Given the description of an element on the screen output the (x, y) to click on. 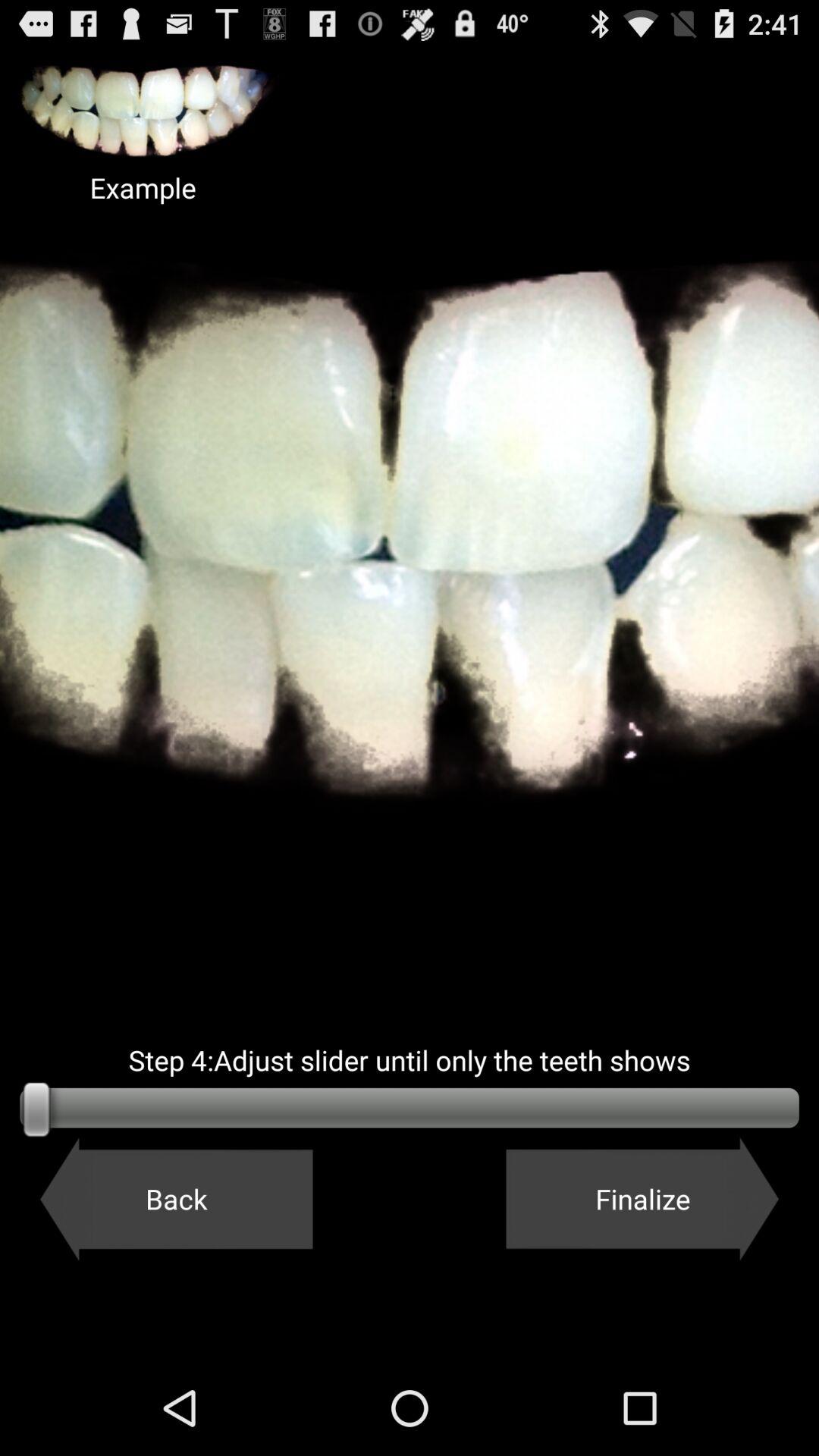
flip to the back item (175, 1198)
